Given the description of an element on the screen output the (x, y) to click on. 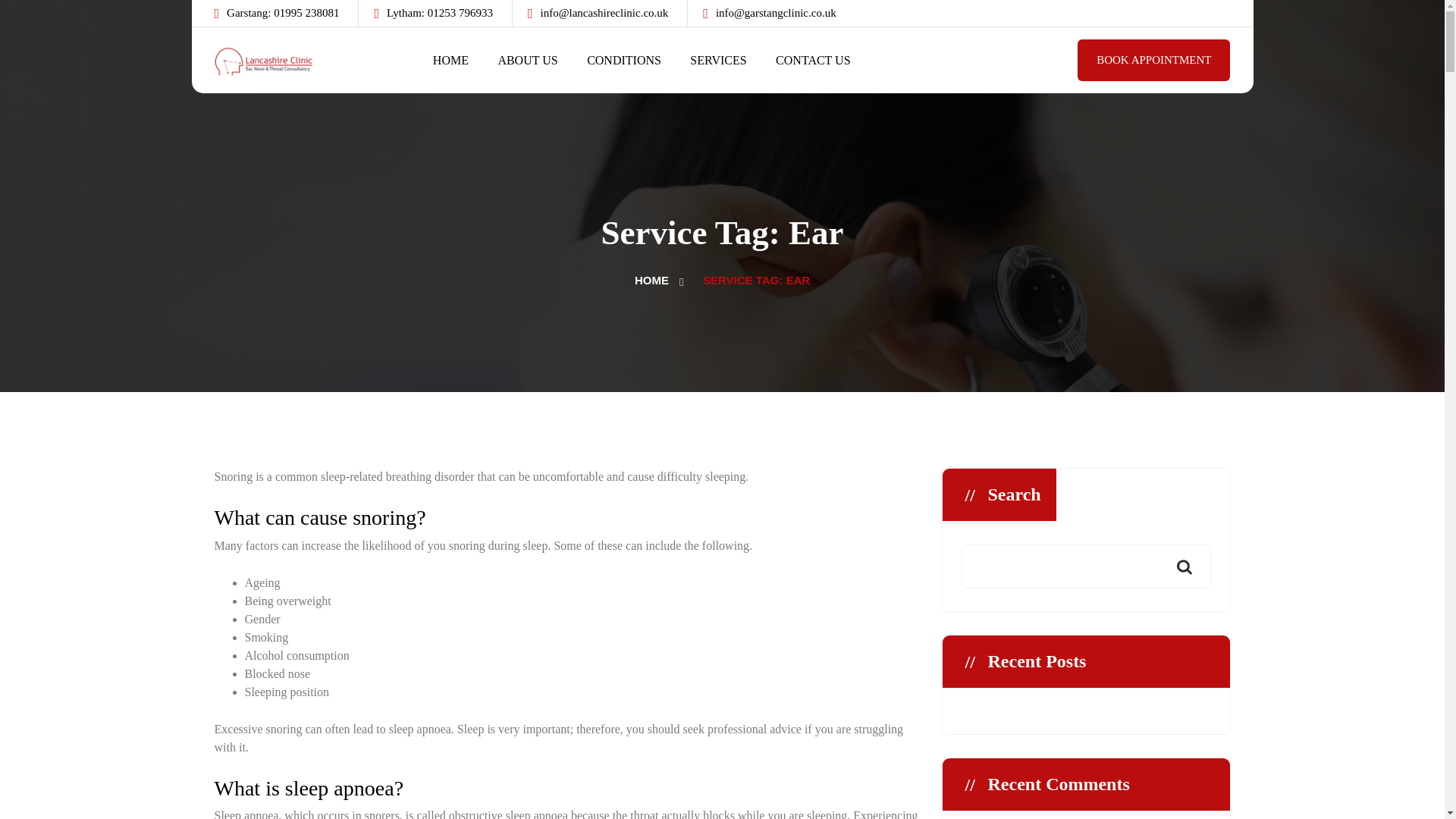
SERVICES (717, 60)
CONTACT US (812, 60)
Book Appointment (1153, 60)
HOME (450, 60)
SEARCH (1183, 566)
BOOK APPOINTMENT (1153, 60)
CONDITIONS (623, 60)
HOME (651, 279)
ABOUT US (527, 60)
